Given the description of an element on the screen output the (x, y) to click on. 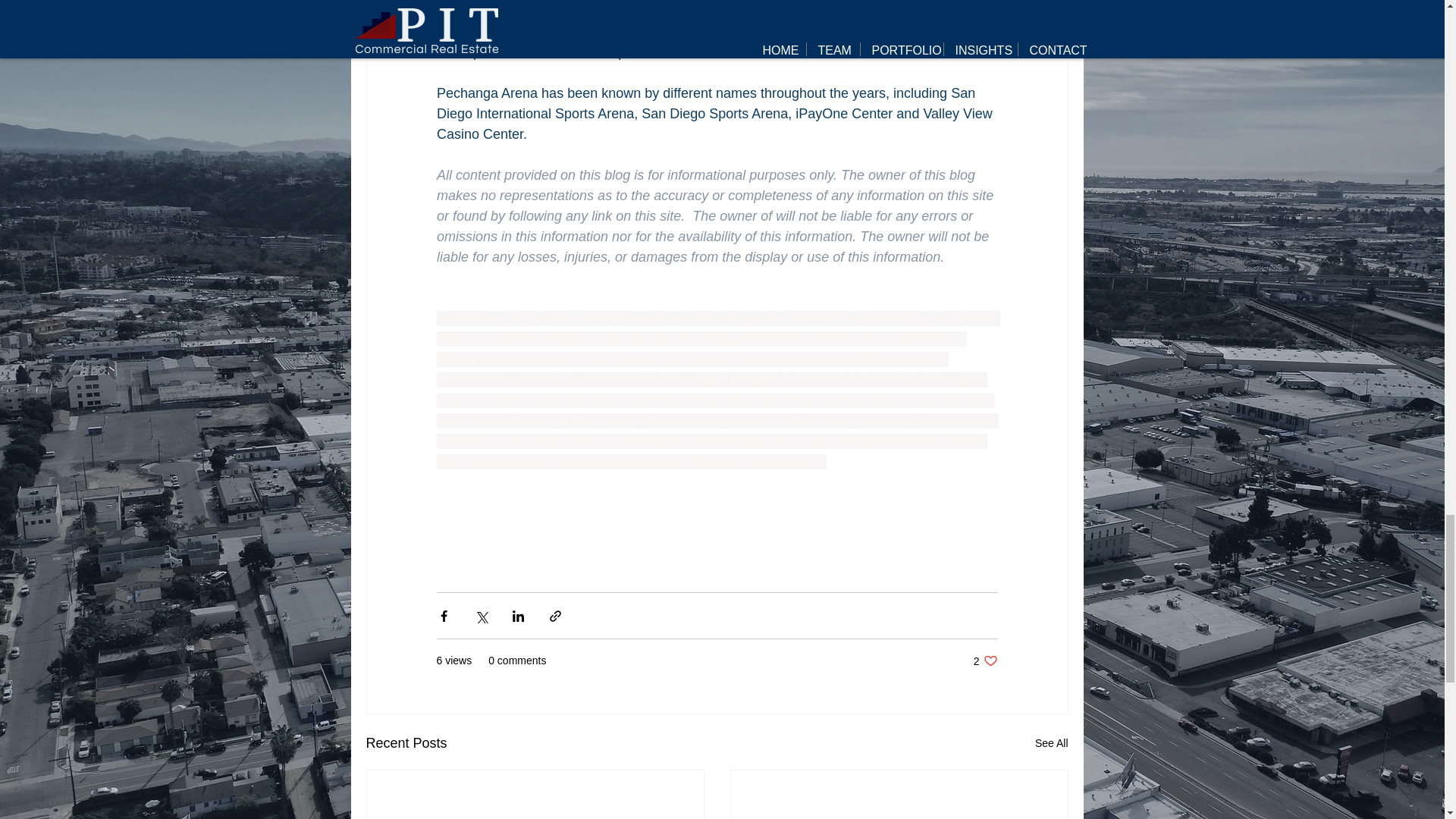
San Diego Commercial Real Estate For Sale (638, 318)
Real Estate Agent  (493, 461)
Brokerage (652, 461)
Commercial Property in San Diego (746, 420)
San Diego Commercial Real Estate Leasing (827, 400)
Contact Us (583, 461)
See All (1051, 743)
Commercial Property In San Diego (886, 318)
Managed Commercial Property San Diego (851, 379)
Property Management Company San Diego (717, 430)
Commercial Property For Sale San Diego (985, 660)
San Diego Commercial Property Management (561, 400)
Top Real Estate Agents in San Diego (801, 359)
Commercial Real Estate In San Diego (715, 410)
